Given the description of an element on the screen output the (x, y) to click on. 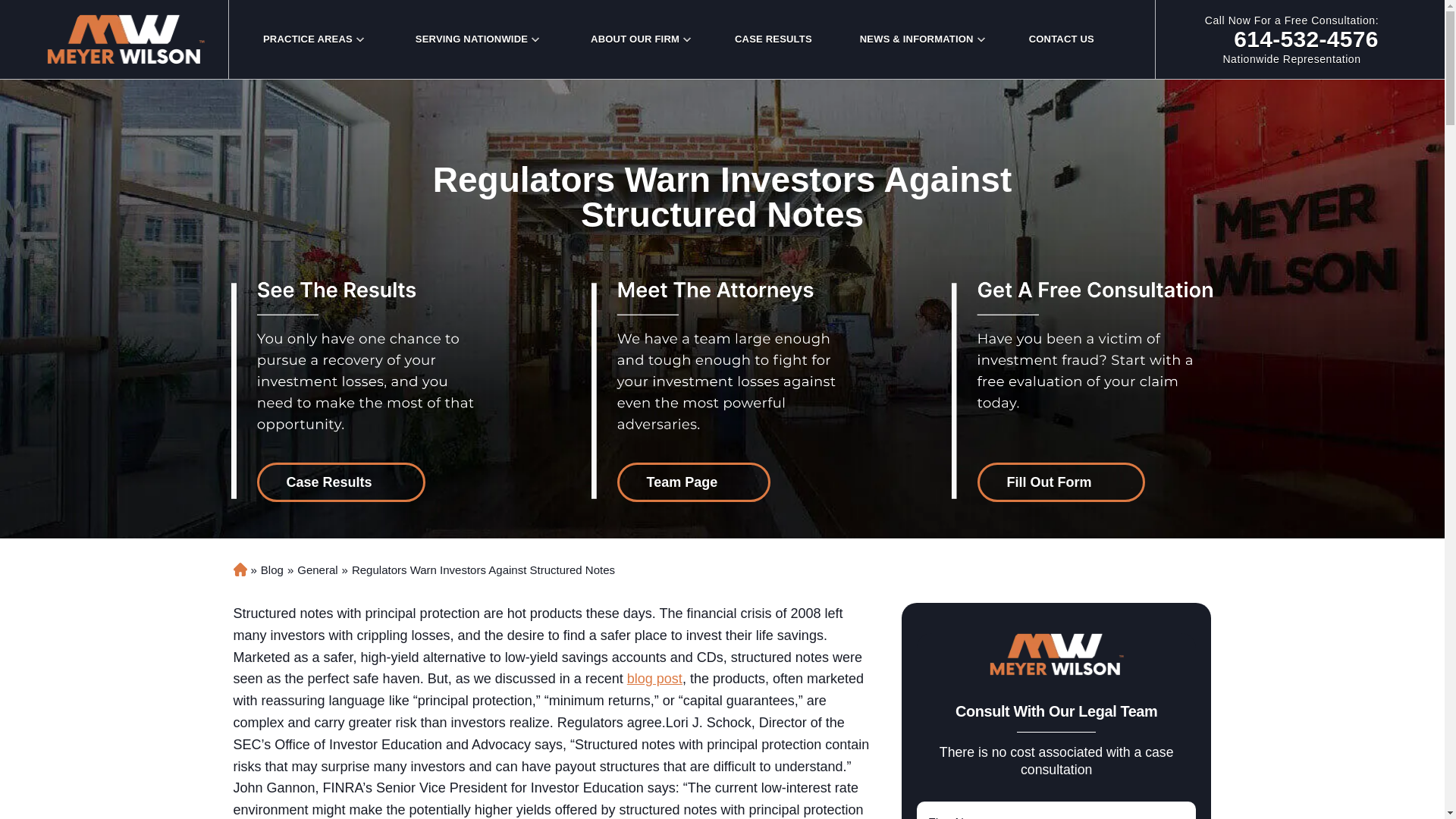
Call to Action (694, 482)
SERVING NATIONWIDE (340, 482)
PRACTICE AREAS (470, 39)
Fill Out Form (307, 39)
